Given the description of an element on the screen output the (x, y) to click on. 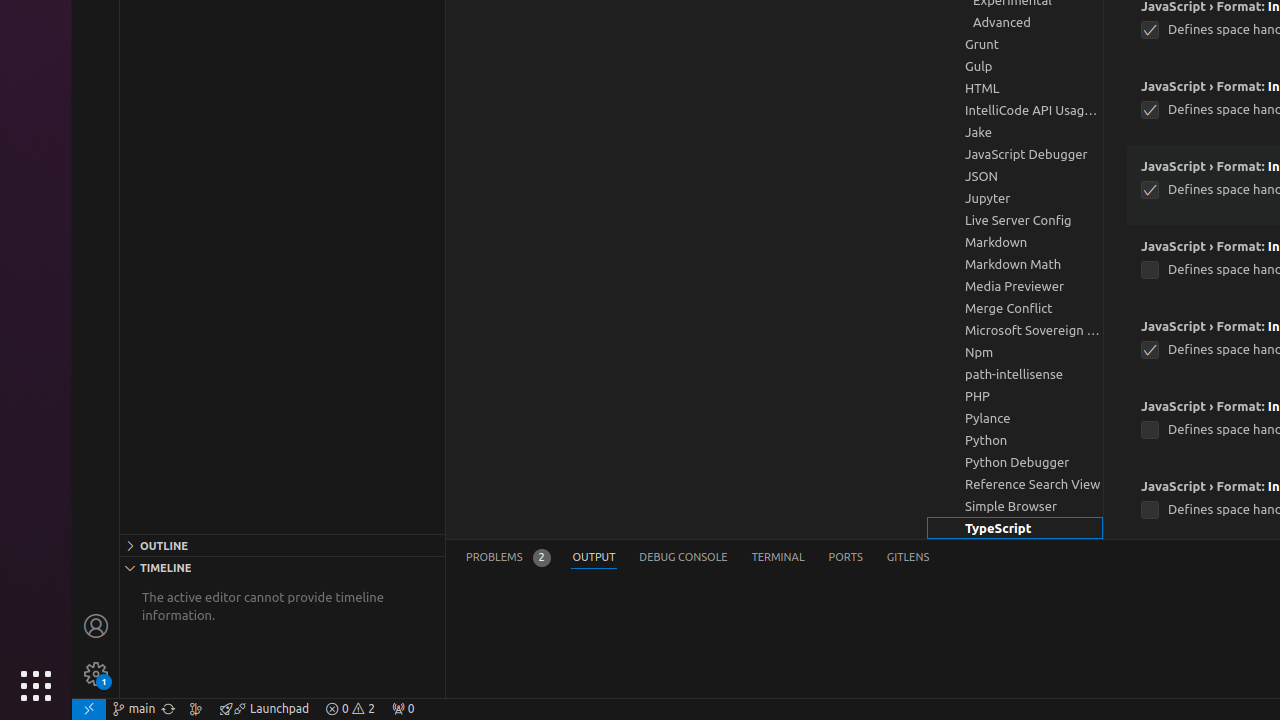
Live Server Config, group Element type: tree-item (1015, 220)
Merge Conflict, group Element type: tree-item (1015, 308)
Pylance, group Element type: tree-item (1015, 418)
TypeScript, group Element type: tree-item (1015, 528)
javascript.format.insertSpaceAfterFunctionKeywordForAnonymousFunctions Element type: check-box (1150, 30)
